Given the description of an element on the screen output the (x, y) to click on. 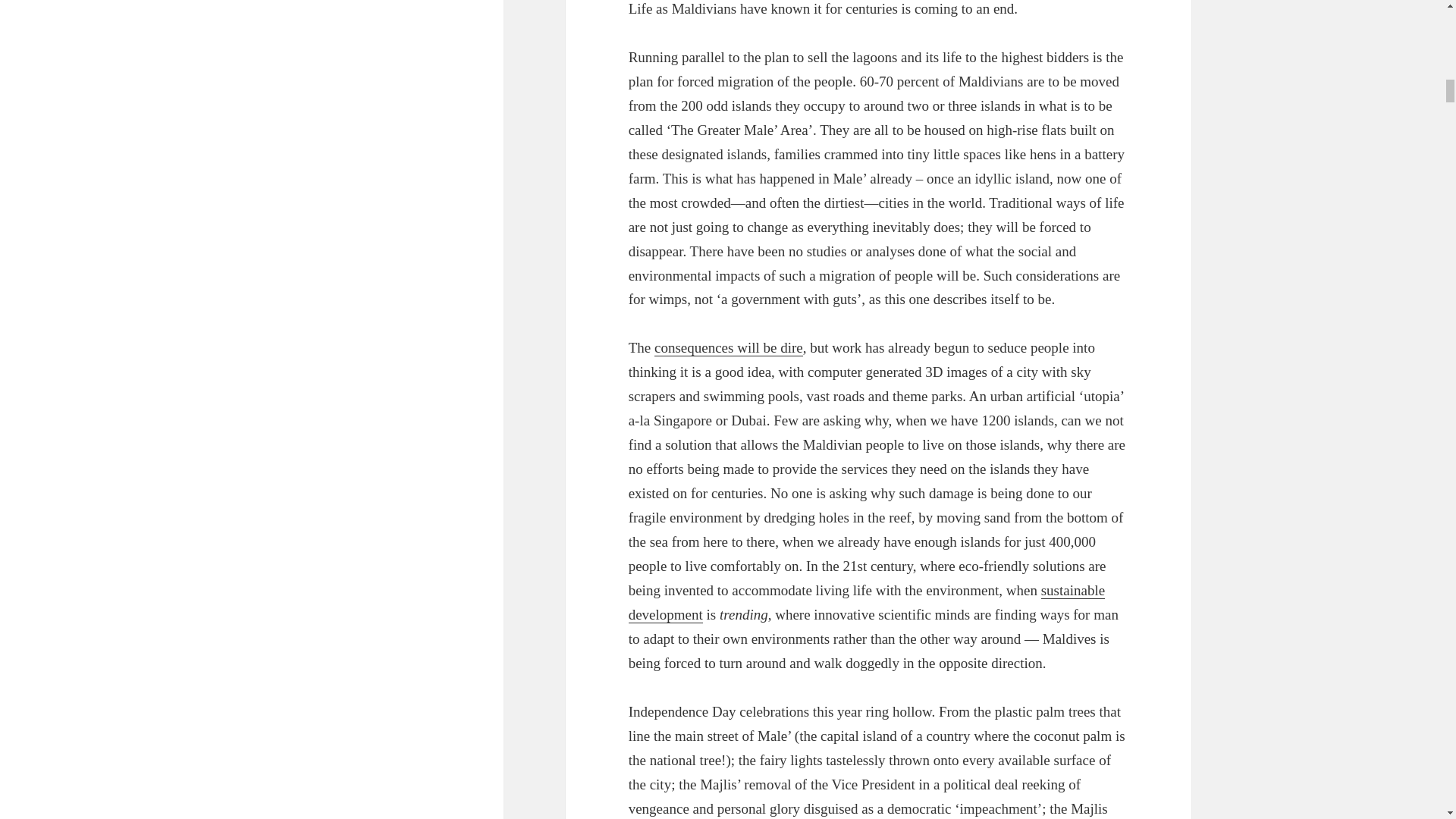
consequences will be dire (728, 347)
sustainable development (866, 602)
